Given the description of an element on the screen output the (x, y) to click on. 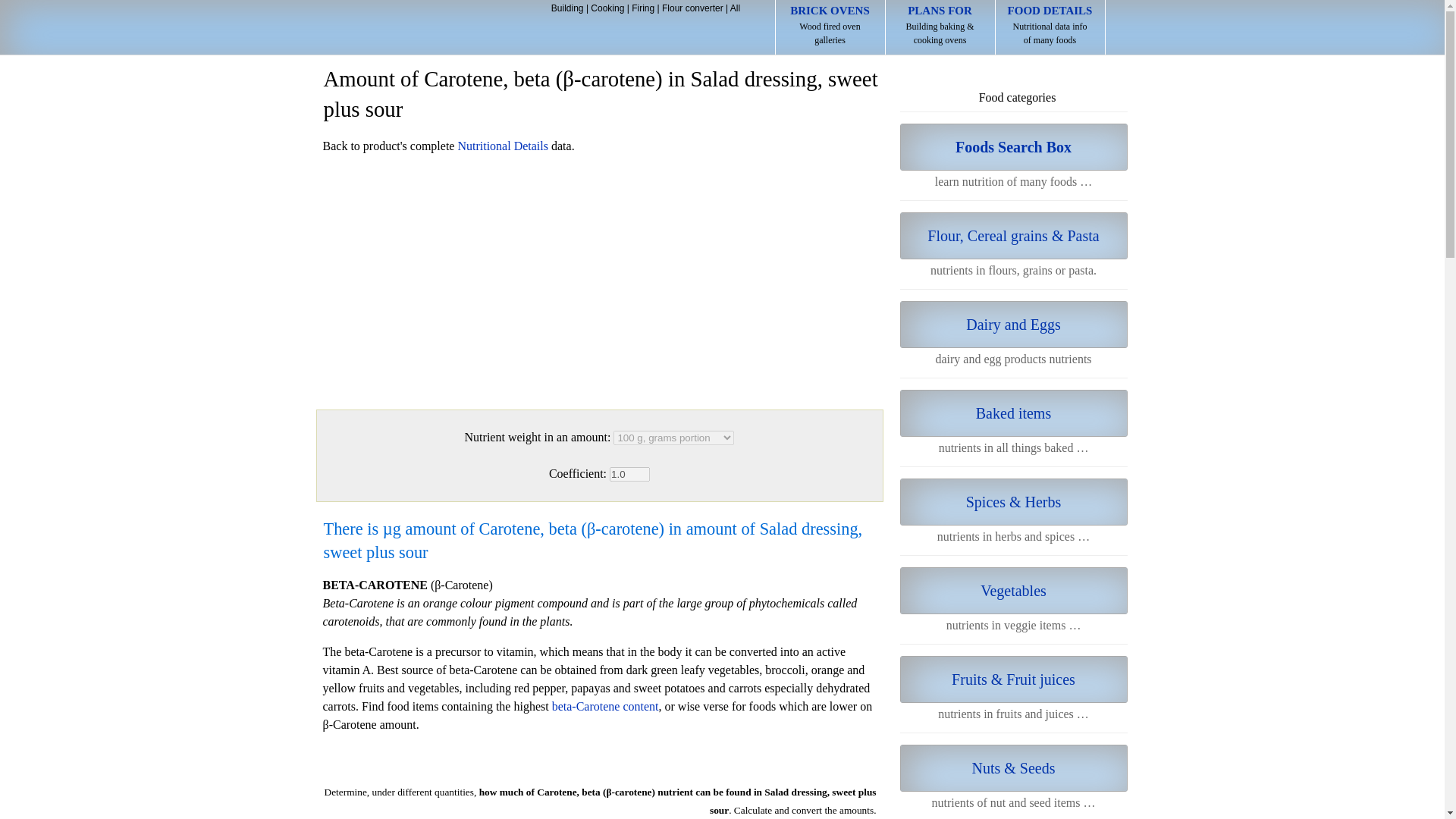
Search for foods. (1012, 146)
Home (411, 28)
Flour converter (692, 8)
Cooking (607, 8)
Advertisement (598, 276)
Firing (642, 8)
Building (567, 8)
1.0 (629, 473)
Vegetables (1012, 590)
Dairy and Eggs (1012, 324)
beta-Carotene content (605, 706)
Traditional oven (411, 28)
Nutritional Details (829, 27)
Foods Search Box (502, 145)
